Given the description of an element on the screen output the (x, y) to click on. 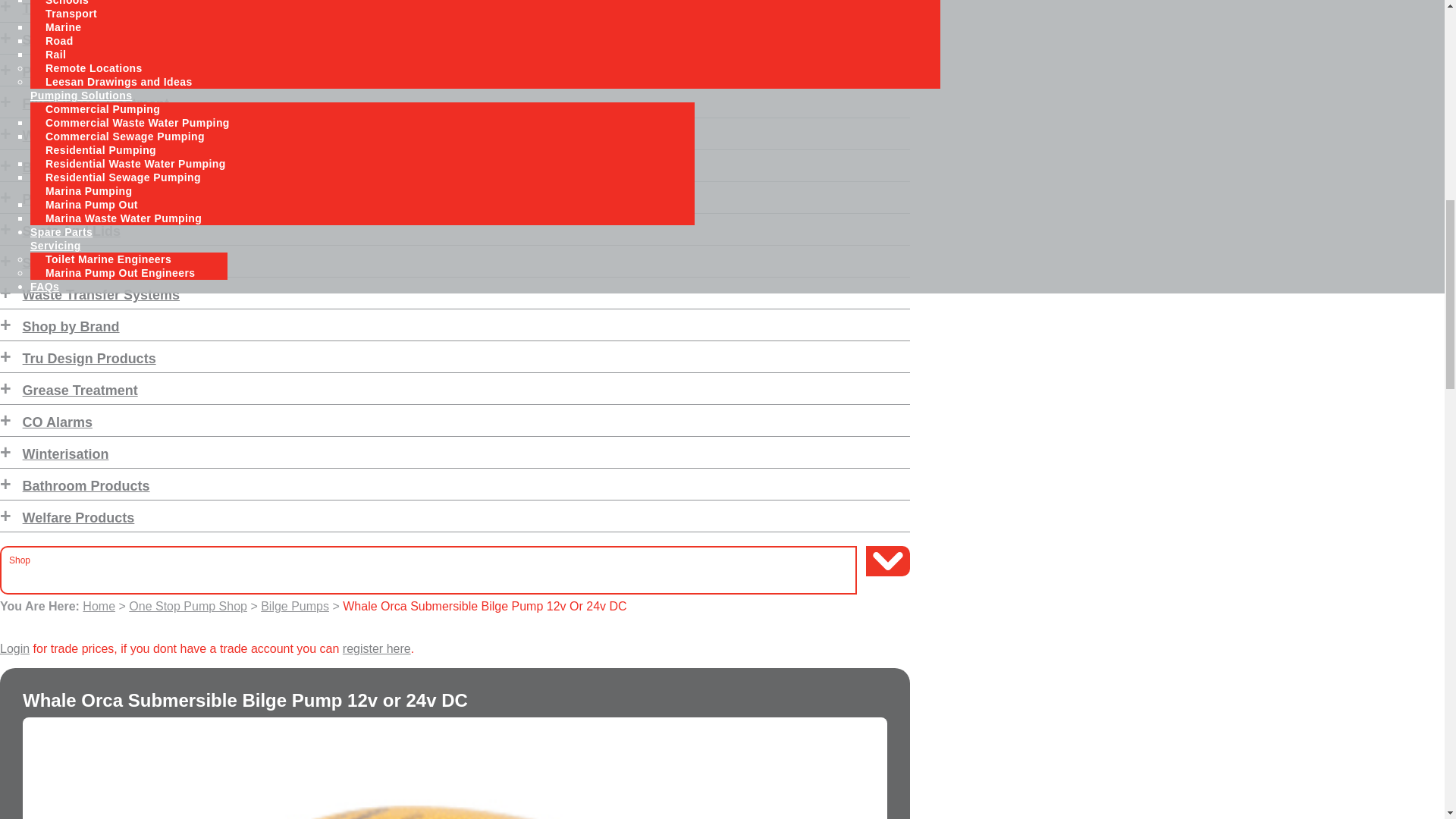
Whale Orca Submersible Bilge Pump 12v or 24v DC (454, 768)
